Given the description of an element on the screen output the (x, y) to click on. 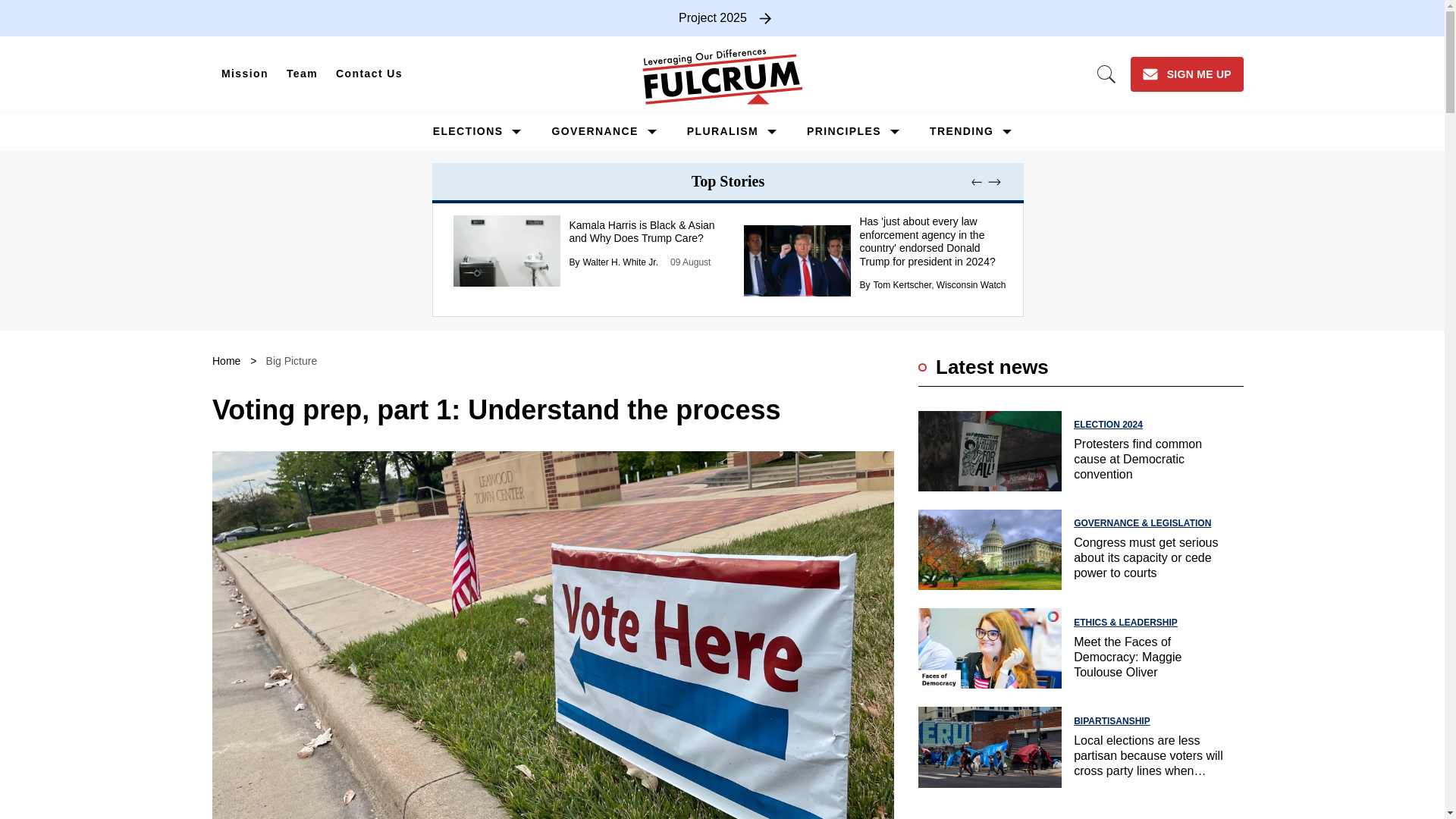
Team (302, 73)
ELECTIONS (467, 131)
Open Search (1106, 74)
SIGN ME UP (1187, 73)
GOVERNANCE (594, 131)
Contact Us (369, 73)
Open Search (1106, 74)
Mission (245, 73)
